Given the description of an element on the screen output the (x, y) to click on. 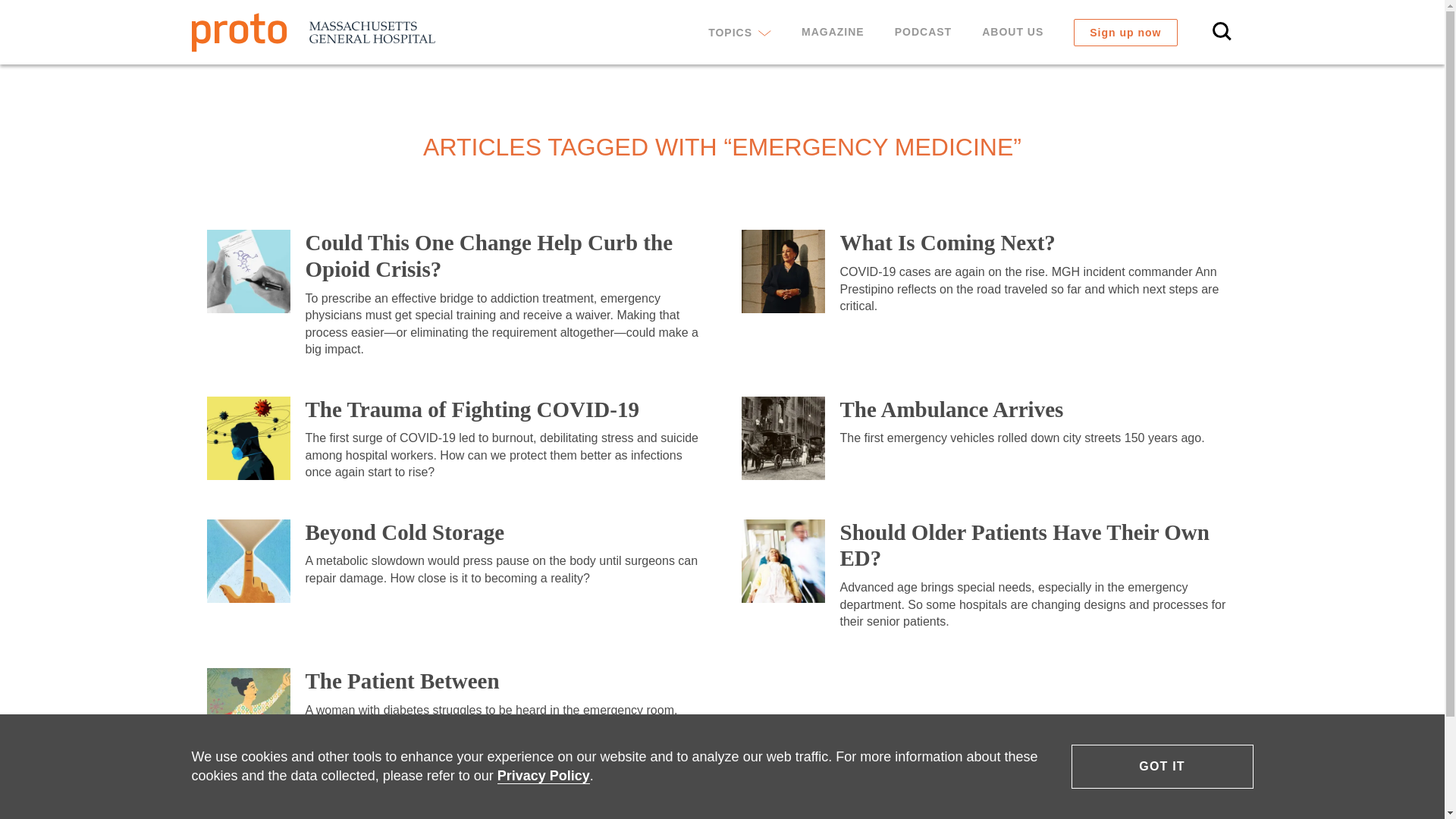
Sign up now (1125, 31)
Proto Magazine (311, 31)
PODCAST (922, 32)
Proto Magazine (311, 31)
ABOUT US (1012, 32)
MAGAZINE (832, 32)
TOPICS (739, 32)
Search (1222, 32)
